Given the description of an element on the screen output the (x, y) to click on. 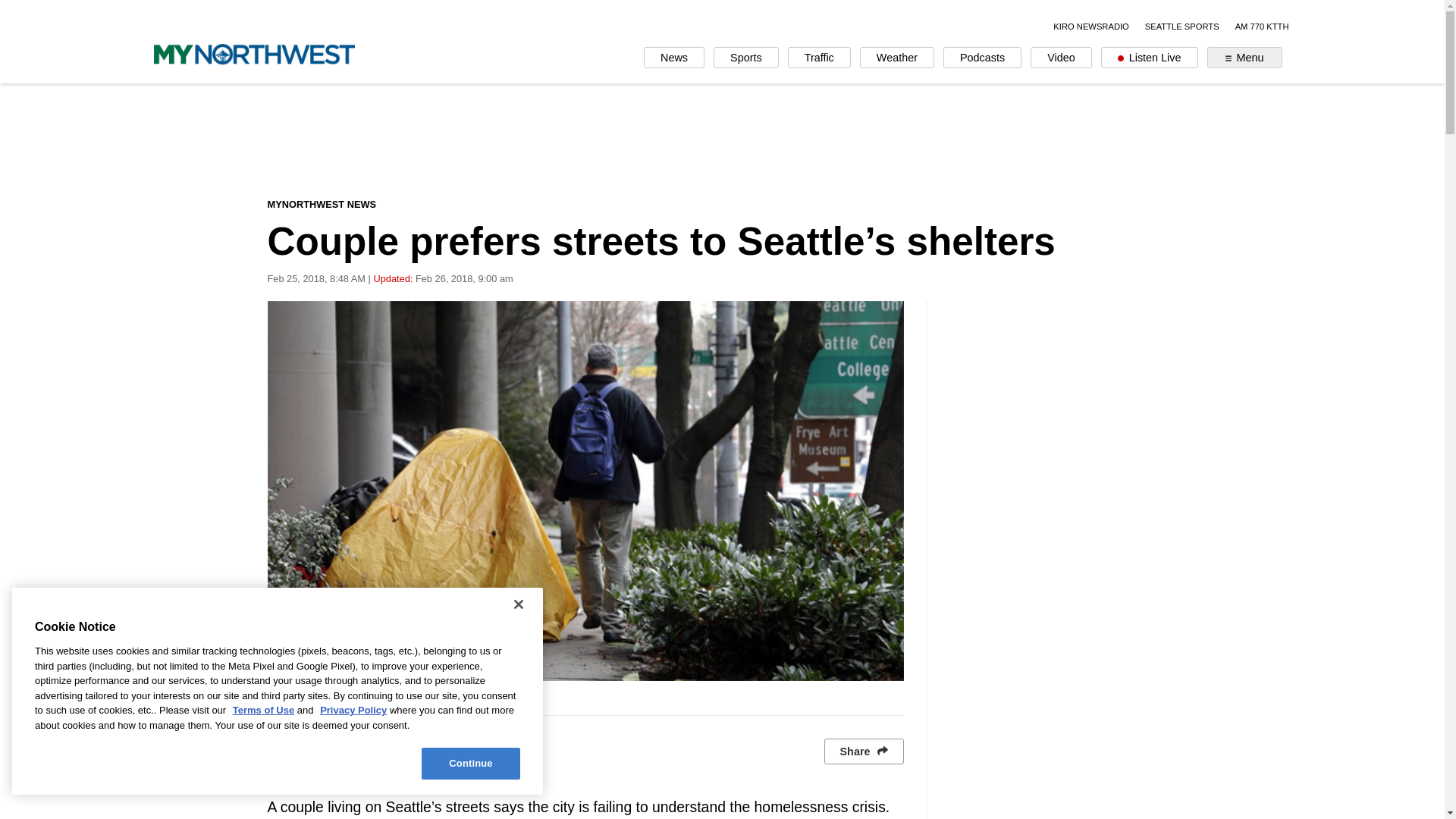
3rd party ad content (722, 140)
